Given the description of an element on the screen output the (x, y) to click on. 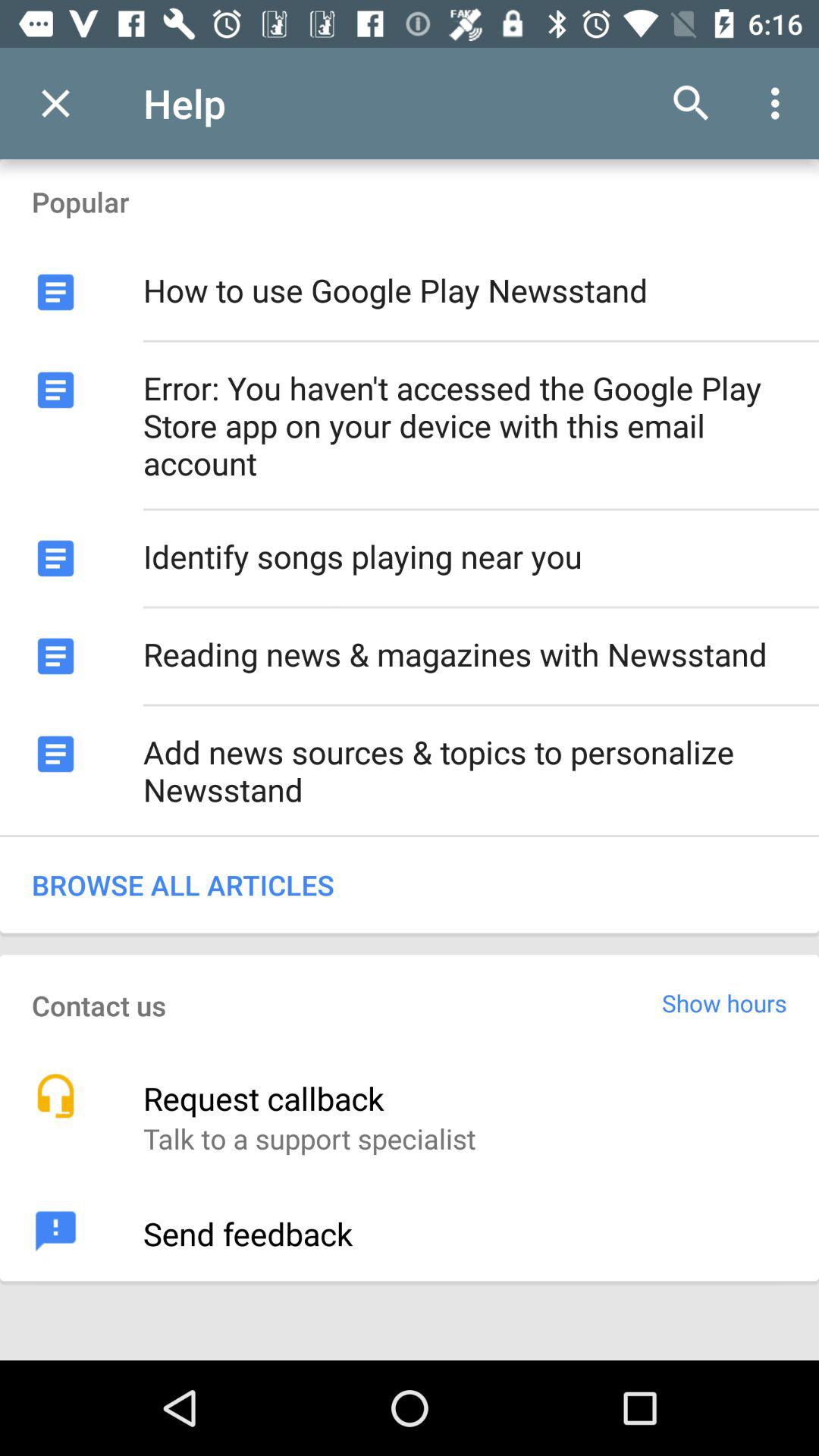
open the icon below browse all articles icon (724, 1002)
